Given the description of an element on the screen output the (x, y) to click on. 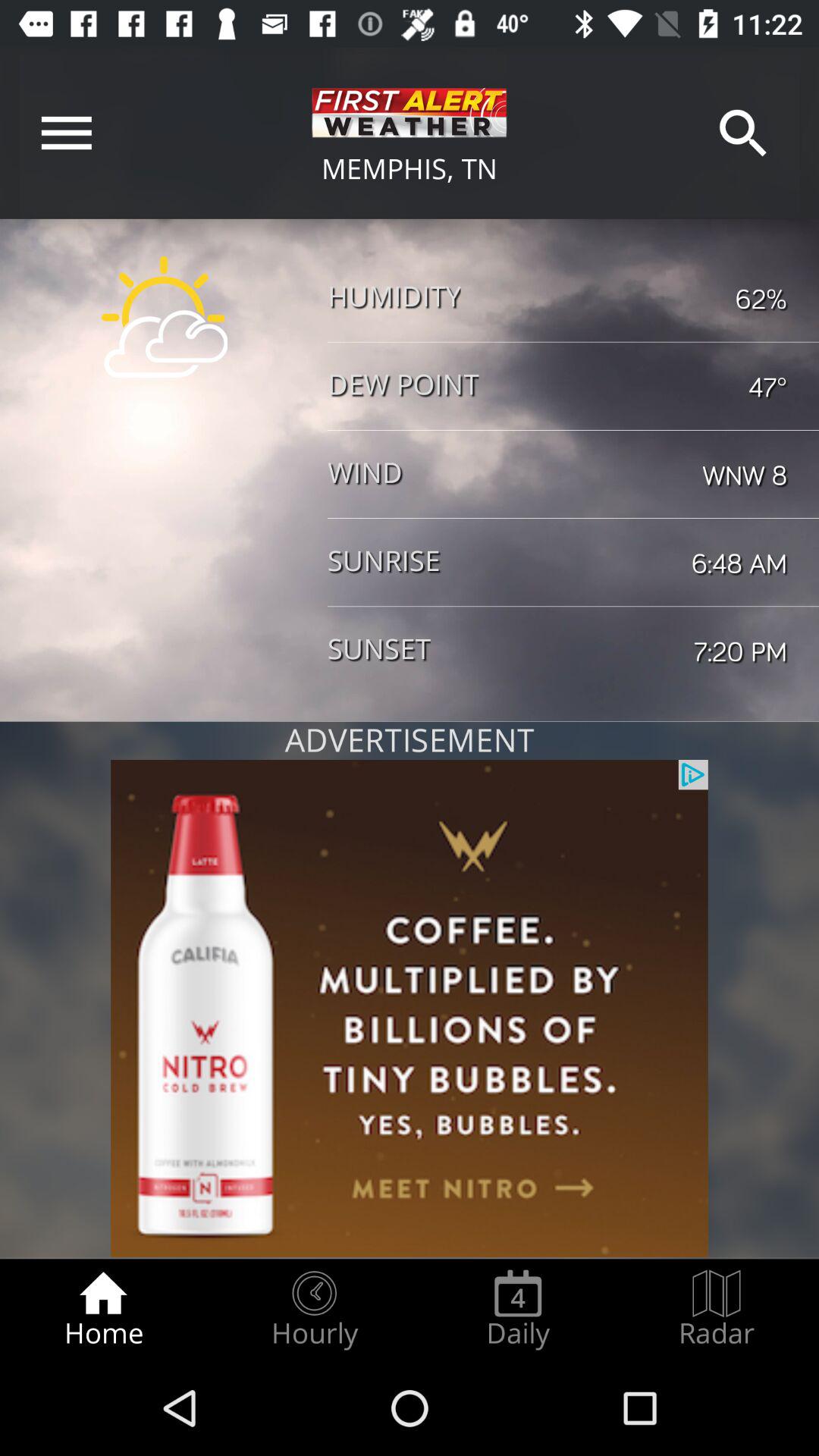
select item next to hourly radio button (103, 1309)
